Given the description of an element on the screen output the (x, y) to click on. 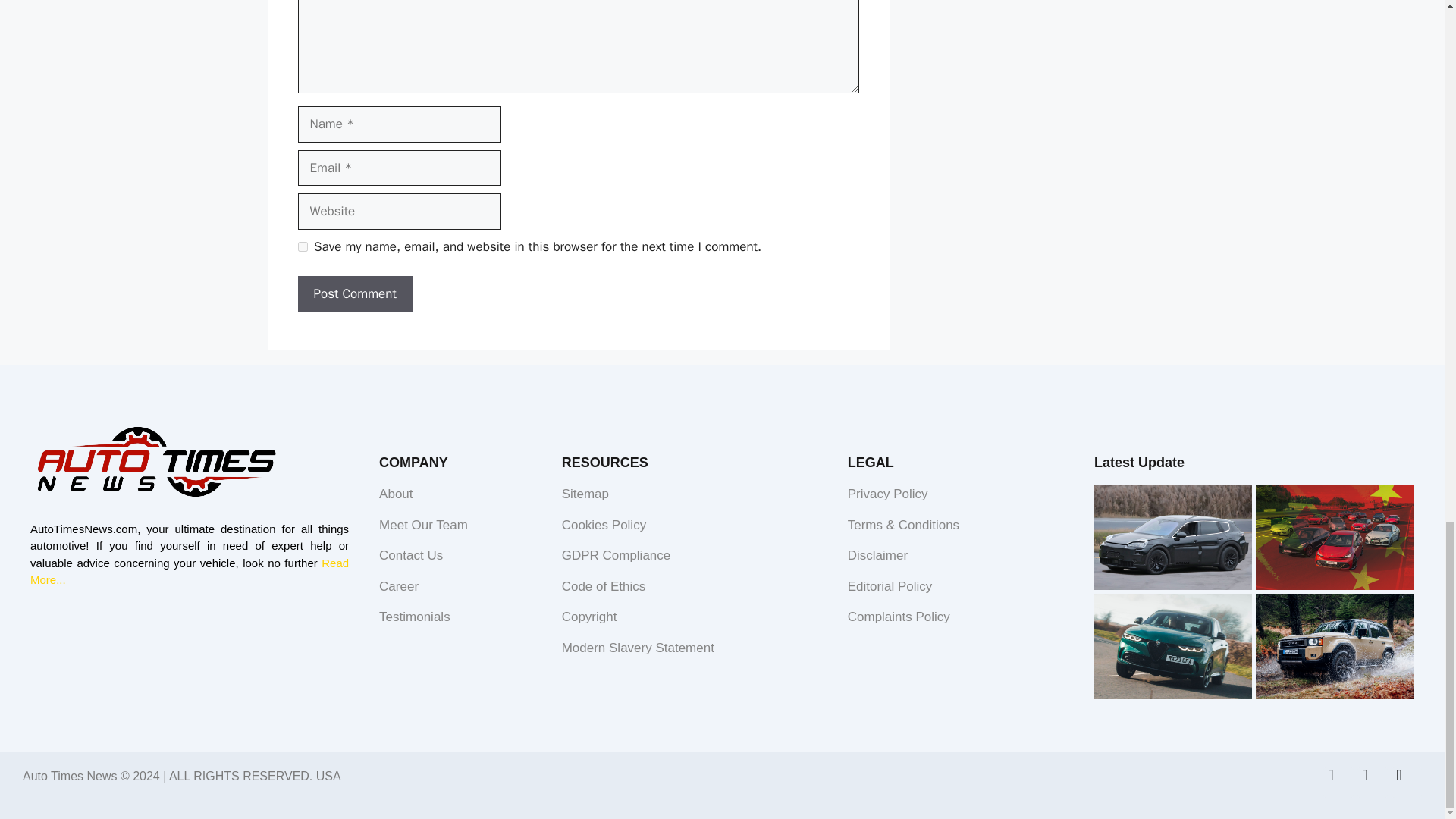
Post Comment (354, 294)
yes (302, 246)
